Given the description of an element on the screen output the (x, y) to click on. 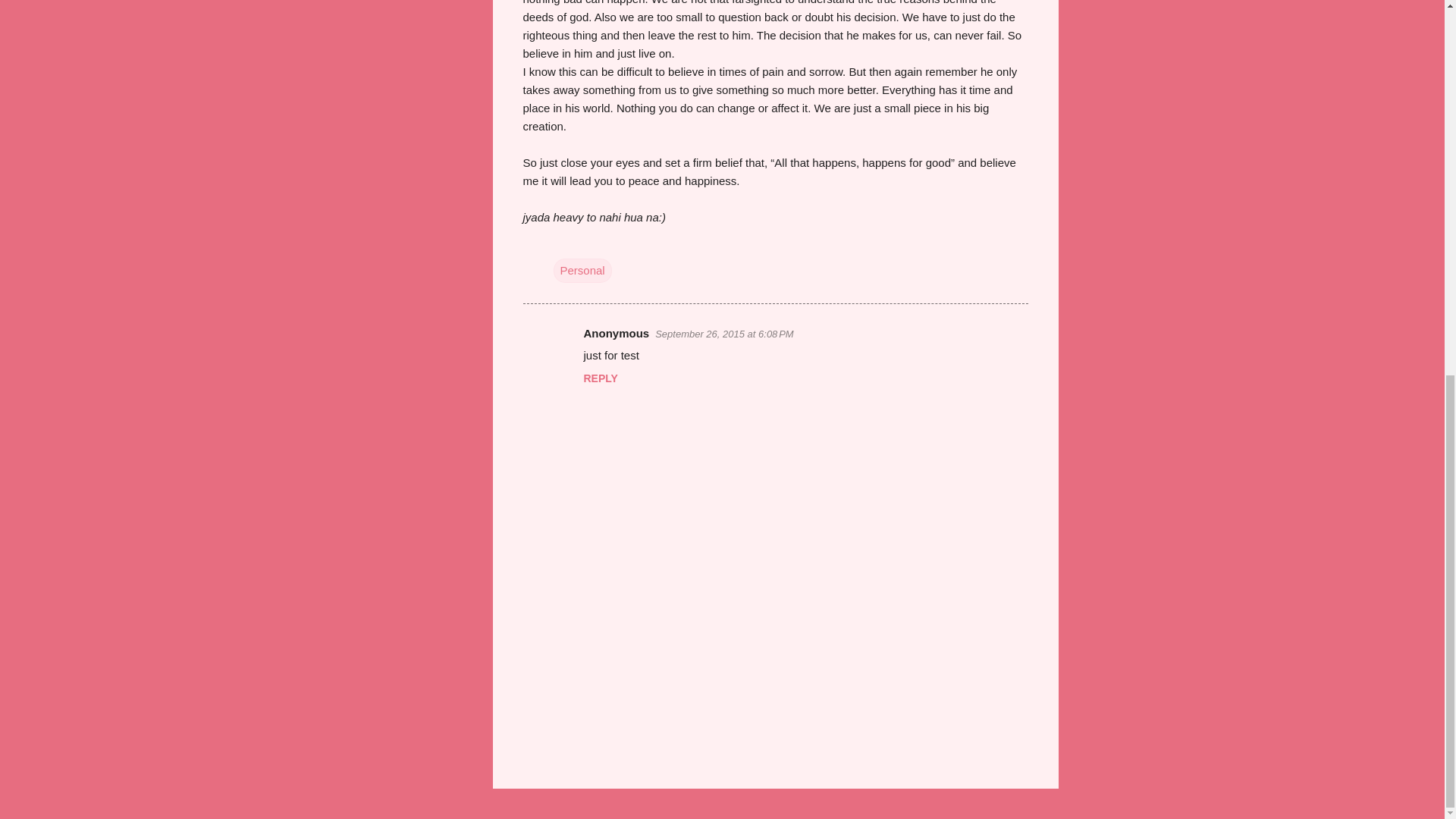
Personal (582, 269)
REPLY (600, 378)
